Given the description of an element on the screen output the (x, y) to click on. 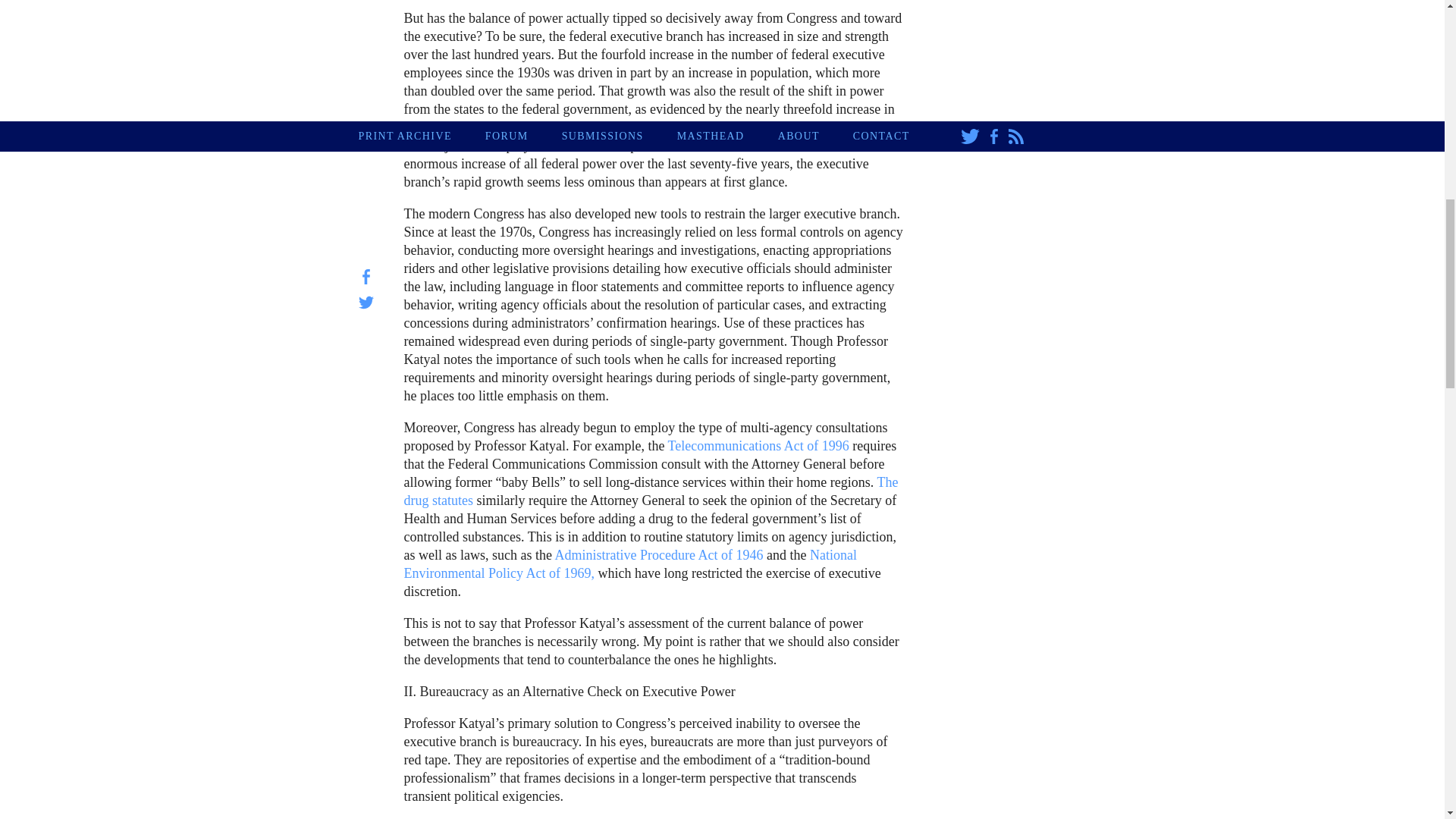
The drug statutes (650, 491)
Administrative Procedure Act of 1946 (658, 554)
National Environmental Policy Act of 1969, (629, 563)
Telecommunications Act of 1996 (758, 445)
